Given the description of an element on the screen output the (x, y) to click on. 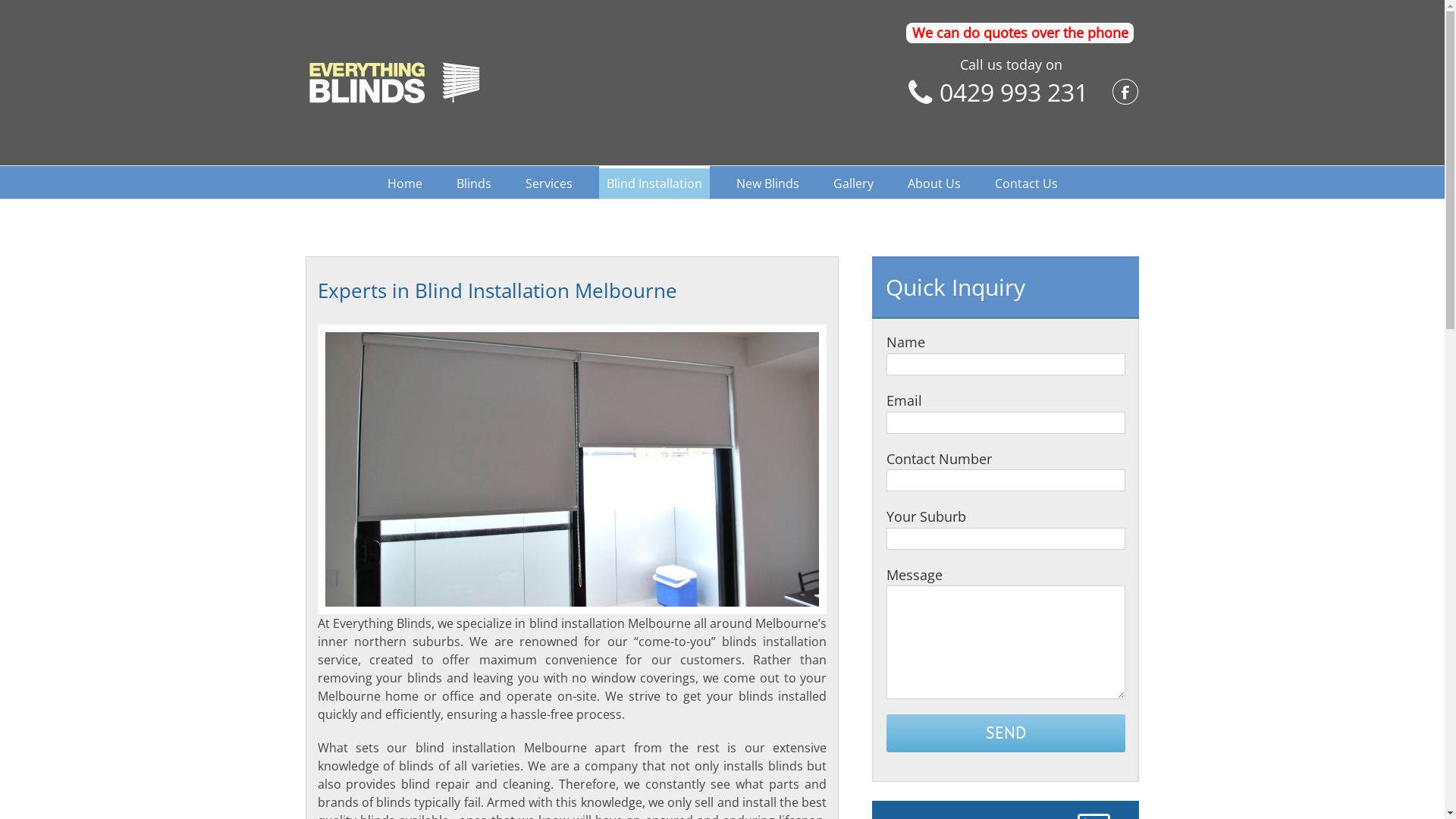
0429 993 231 Element type: text (1012, 91)
Contact Us Element type: text (1026, 182)
Gallery Element type: text (852, 182)
New Blinds Element type: text (767, 182)
Blind Installation Element type: text (654, 182)
Blinds Element type: text (473, 182)
Services Element type: text (548, 182)
About Us Element type: text (933, 182)
Home Element type: text (404, 182)
Send Element type: text (1005, 733)
